Given the description of an element on the screen output the (x, y) to click on. 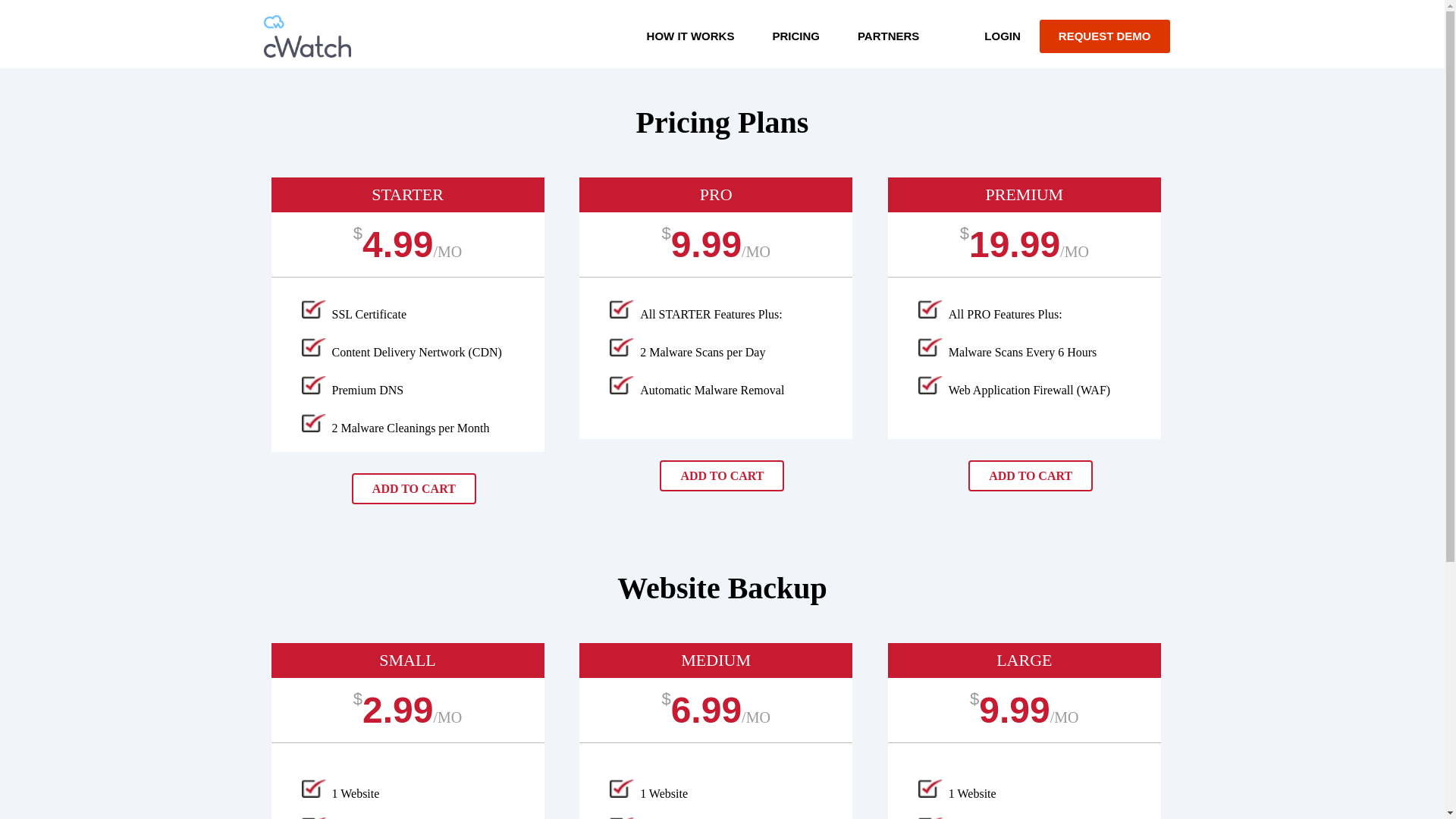
HOW IT WORKS (690, 36)
PARTNERS (887, 36)
PRICING (795, 36)
ADD TO CART (1030, 475)
cWatch Website Security (306, 34)
ADD TO CART (721, 475)
LOGIN (1002, 36)
REQUEST DEMO (1104, 36)
ADD TO CART (414, 488)
